Given the description of an element on the screen output the (x, y) to click on. 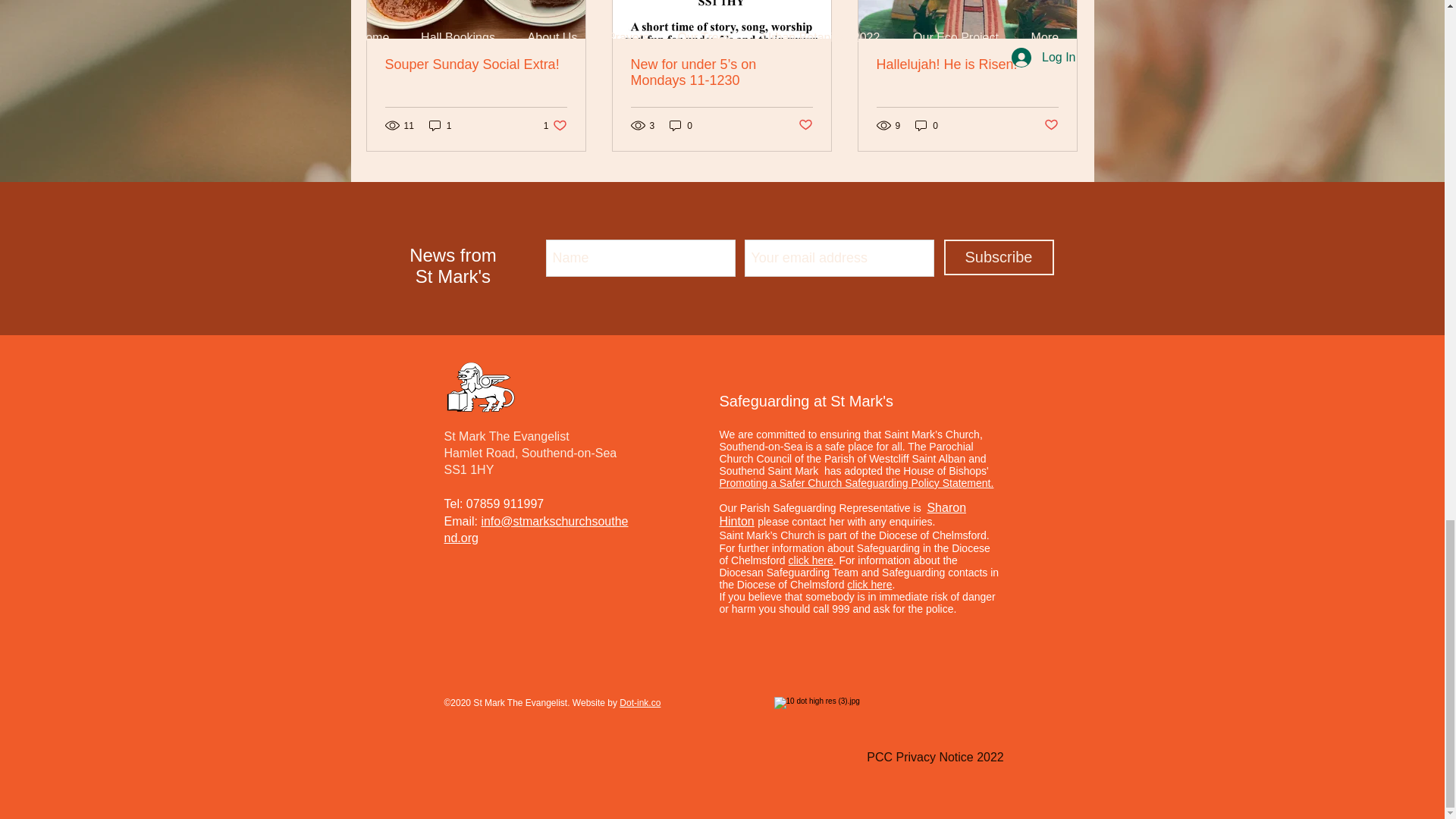
Hallelujah! He is Risen! (555, 124)
PCC Privacy Notice 2022 (967, 64)
0 (934, 726)
Post not marked as liked (681, 124)
1 (804, 125)
Souper Sunday Social Extra! (440, 124)
